Given the description of an element on the screen output the (x, y) to click on. 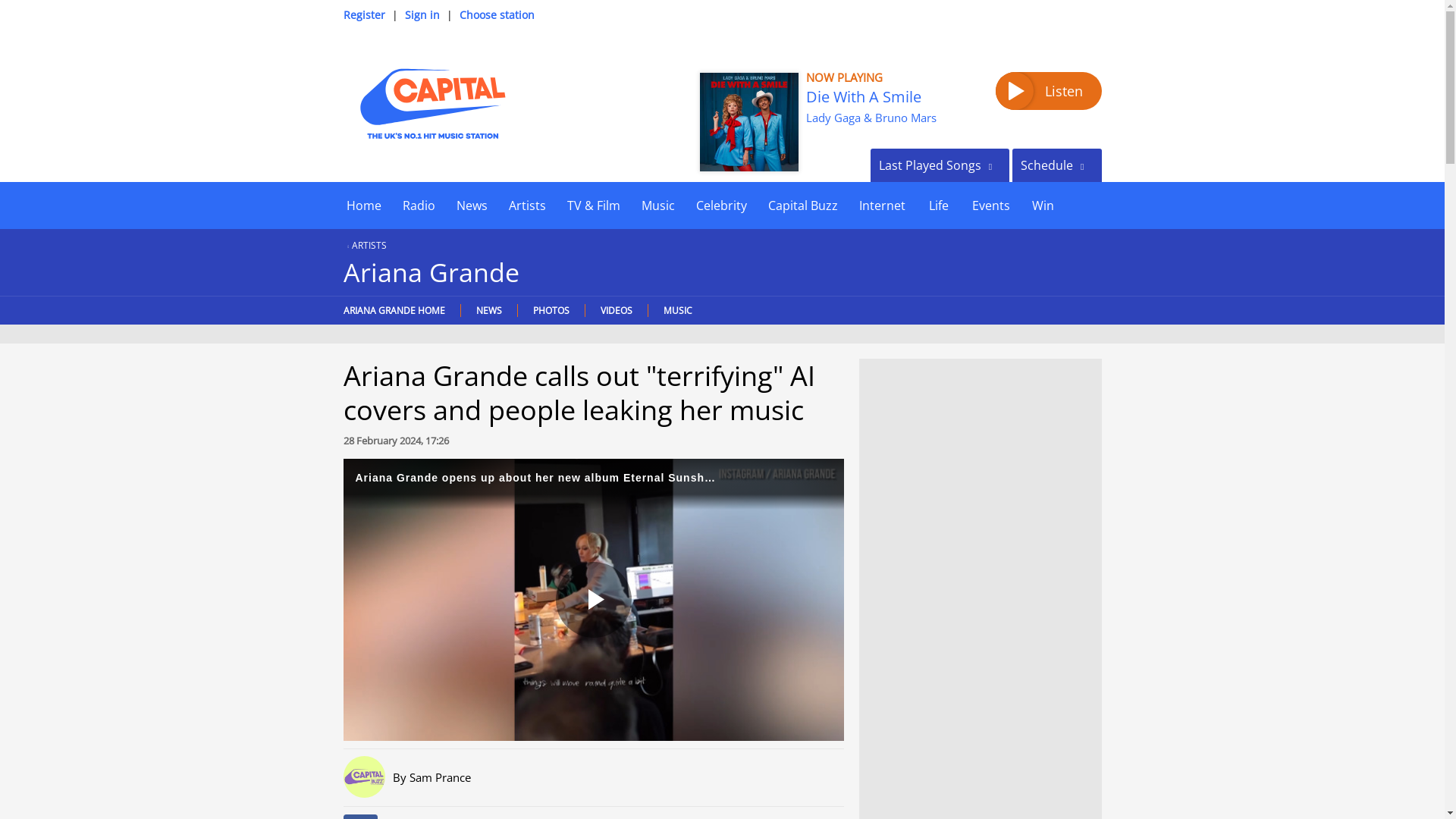
ARIANA GRANDE HOME (397, 309)
ARTISTS (364, 245)
Music (657, 205)
NEWS (488, 309)
Register (363, 14)
Schedule (1055, 164)
Artists (526, 205)
Last Played Songs (939, 164)
PHOTOS (550, 309)
Choose station (497, 14)
